Given the description of an element on the screen output the (x, y) to click on. 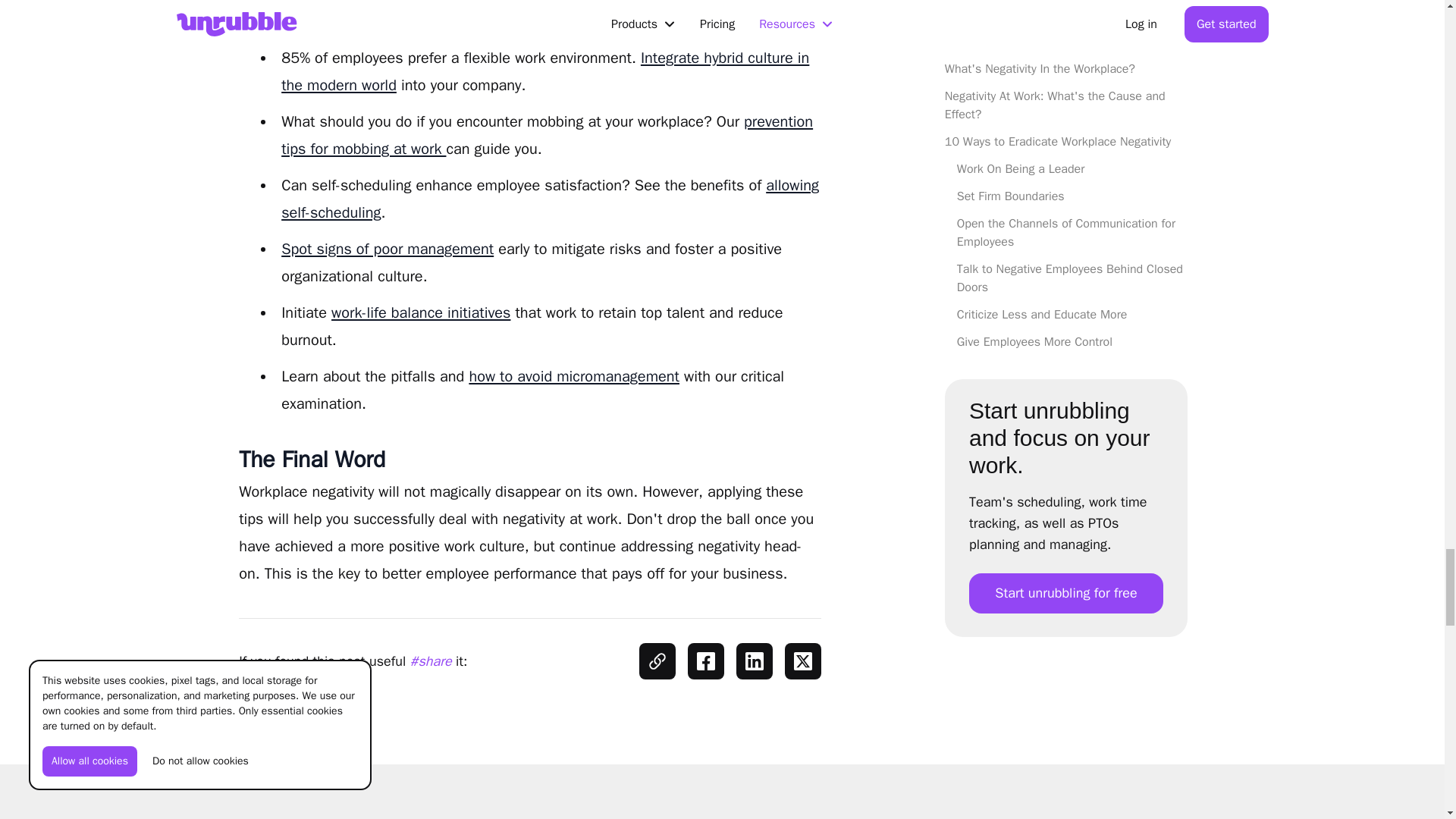
prevention tips for mobbing at work (546, 135)
Spot signs of poor management (387, 248)
work-life balance initiatives (421, 312)
allowing self-scheduling (549, 198)
Integrate hybrid culture in the modern world (545, 71)
